Given the description of an element on the screen output the (x, y) to click on. 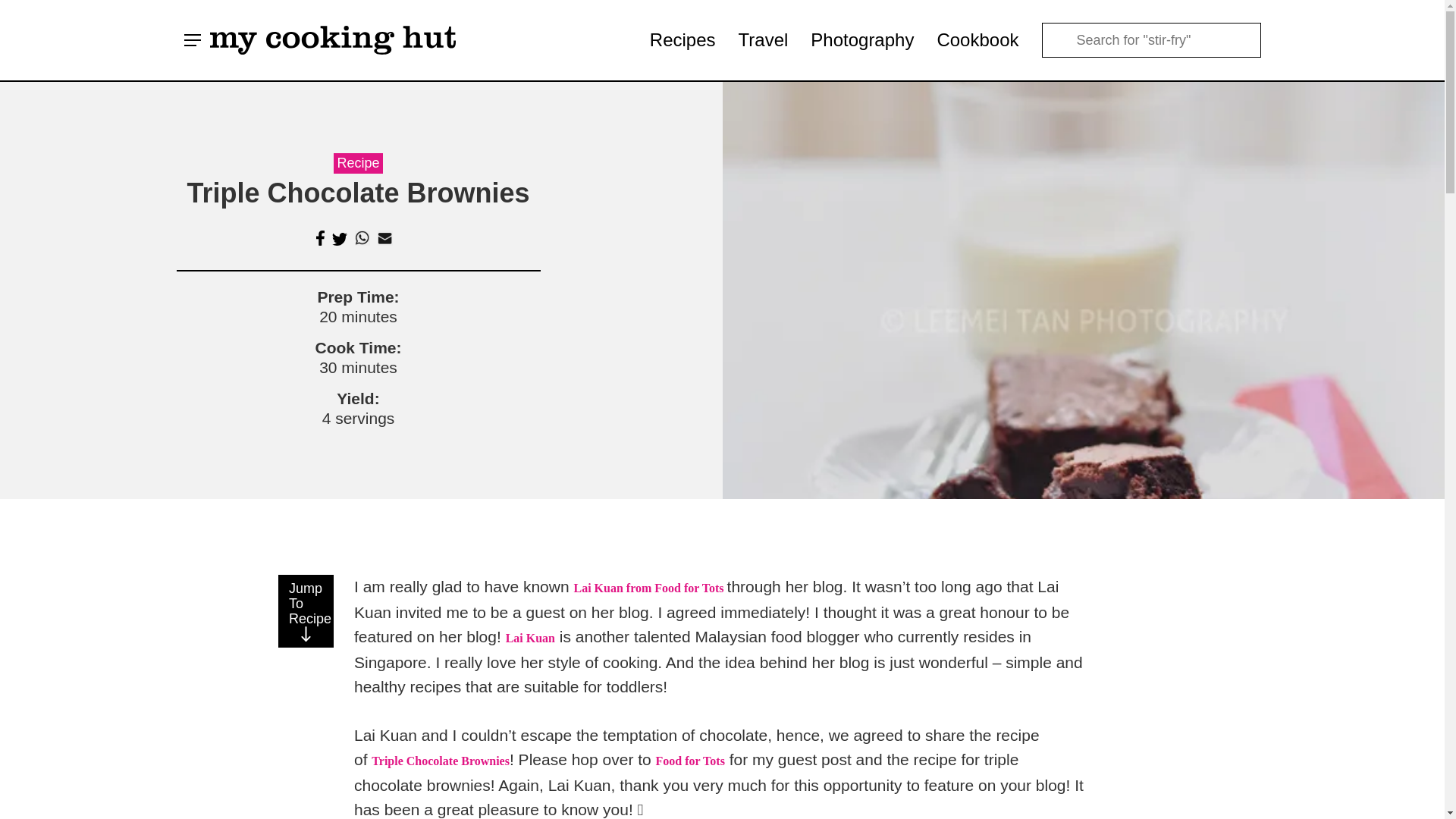
Menu (192, 39)
Cookbook (976, 40)
Lai Kuan (529, 637)
Triple Chocolate Brownies (440, 759)
Food for Tots (690, 759)
Photography (862, 40)
Lai Kuan from Food for Tots  (649, 587)
Travel (763, 40)
Recipes (682, 40)
